Given the description of an element on the screen output the (x, y) to click on. 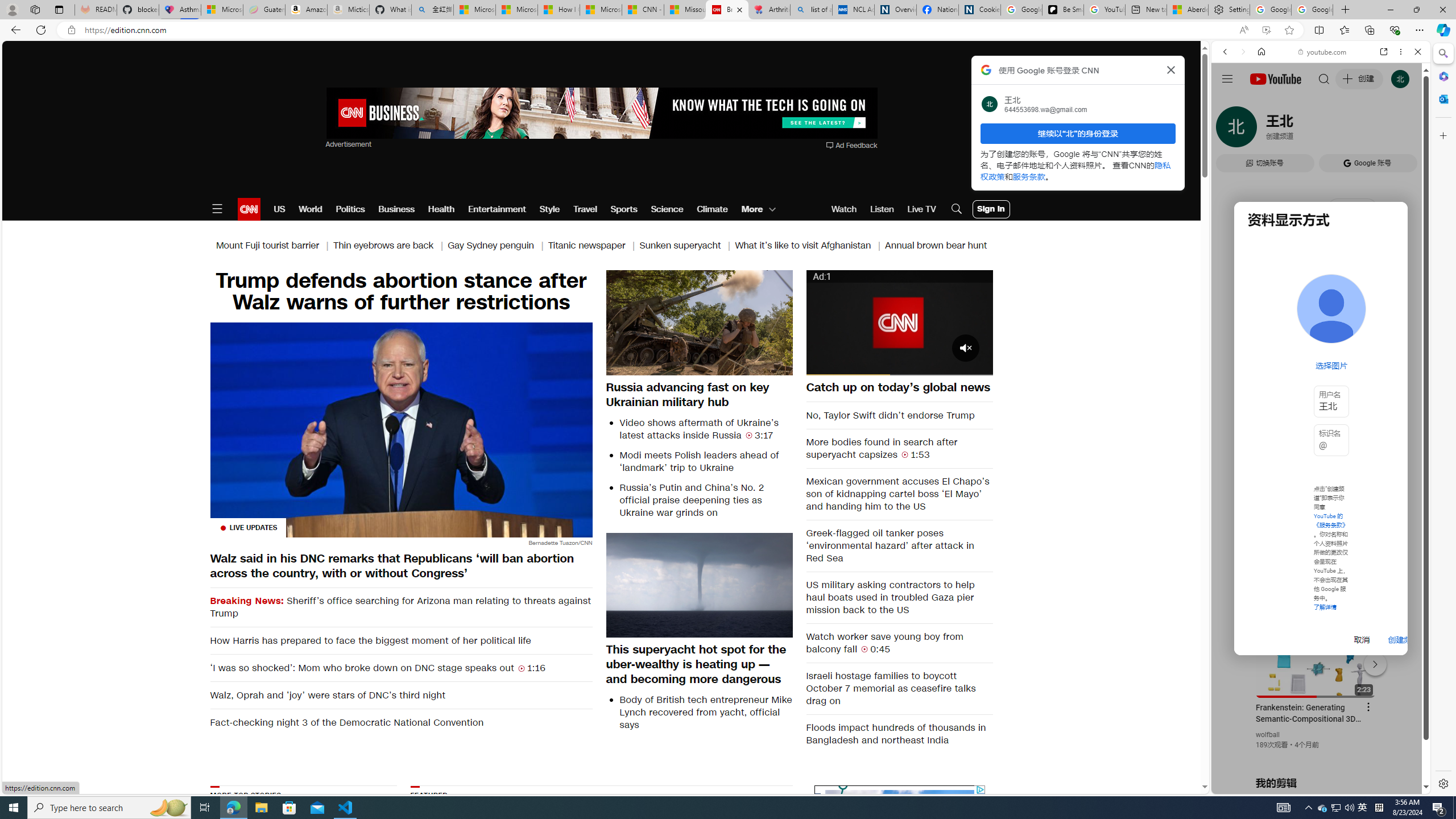
YouTube (1315, 655)
CNN - MSN (642, 9)
Search the web (1326, 78)
Aberdeen, Hong Kong SAR hourly forecast | Microsoft Weather (1186, 9)
Business (396, 209)
Breaking News, Latest News and Videos | CNN (726, 9)
VIDEOS (1300, 130)
Sports (623, 209)
Class: Bz112c Bz112c-r9oPif (1170, 69)
